Given the description of an element on the screen output the (x, y) to click on. 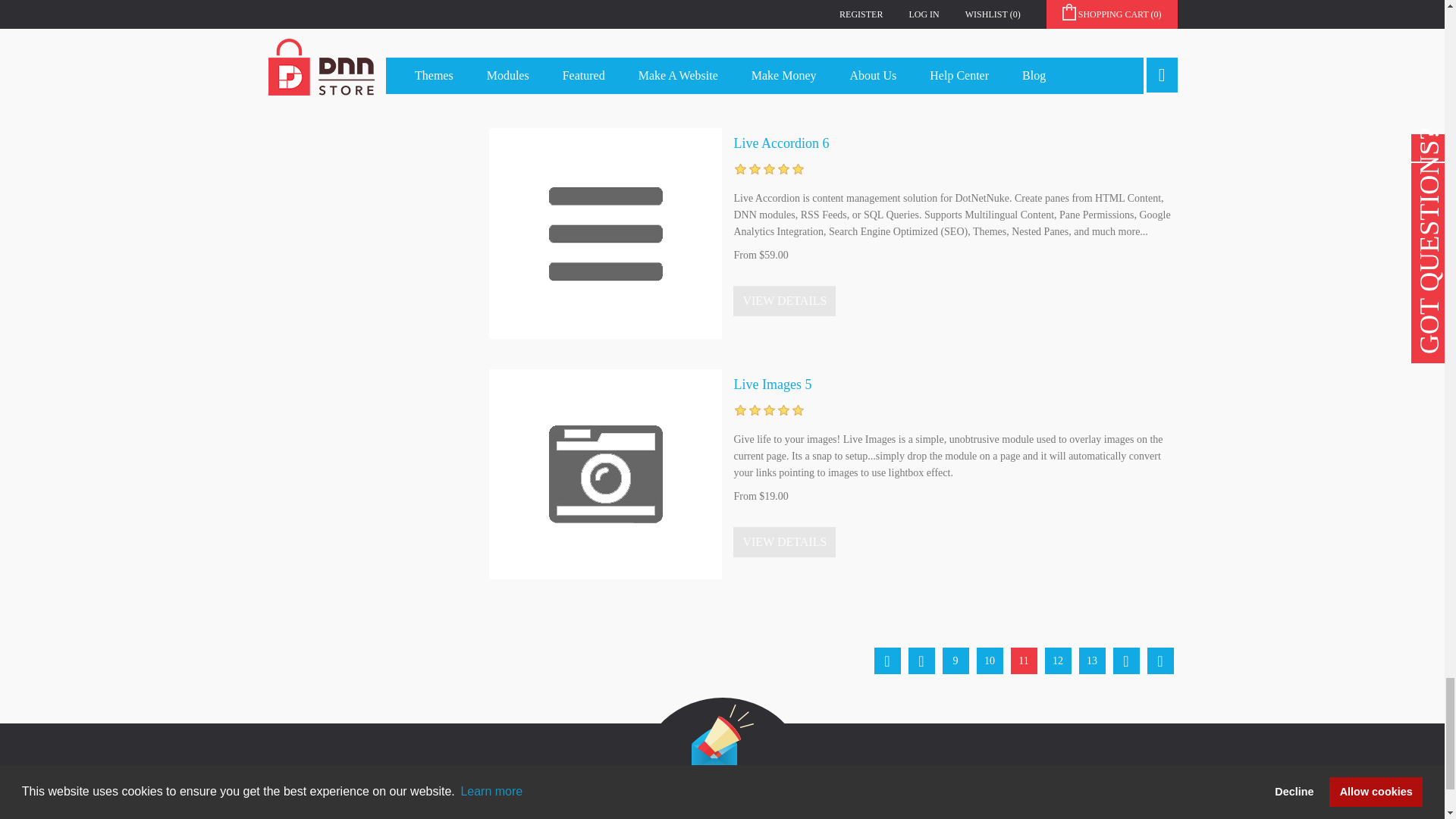
View Details (784, 43)
View Details (784, 300)
